Given the description of an element on the screen output the (x, y) to click on. 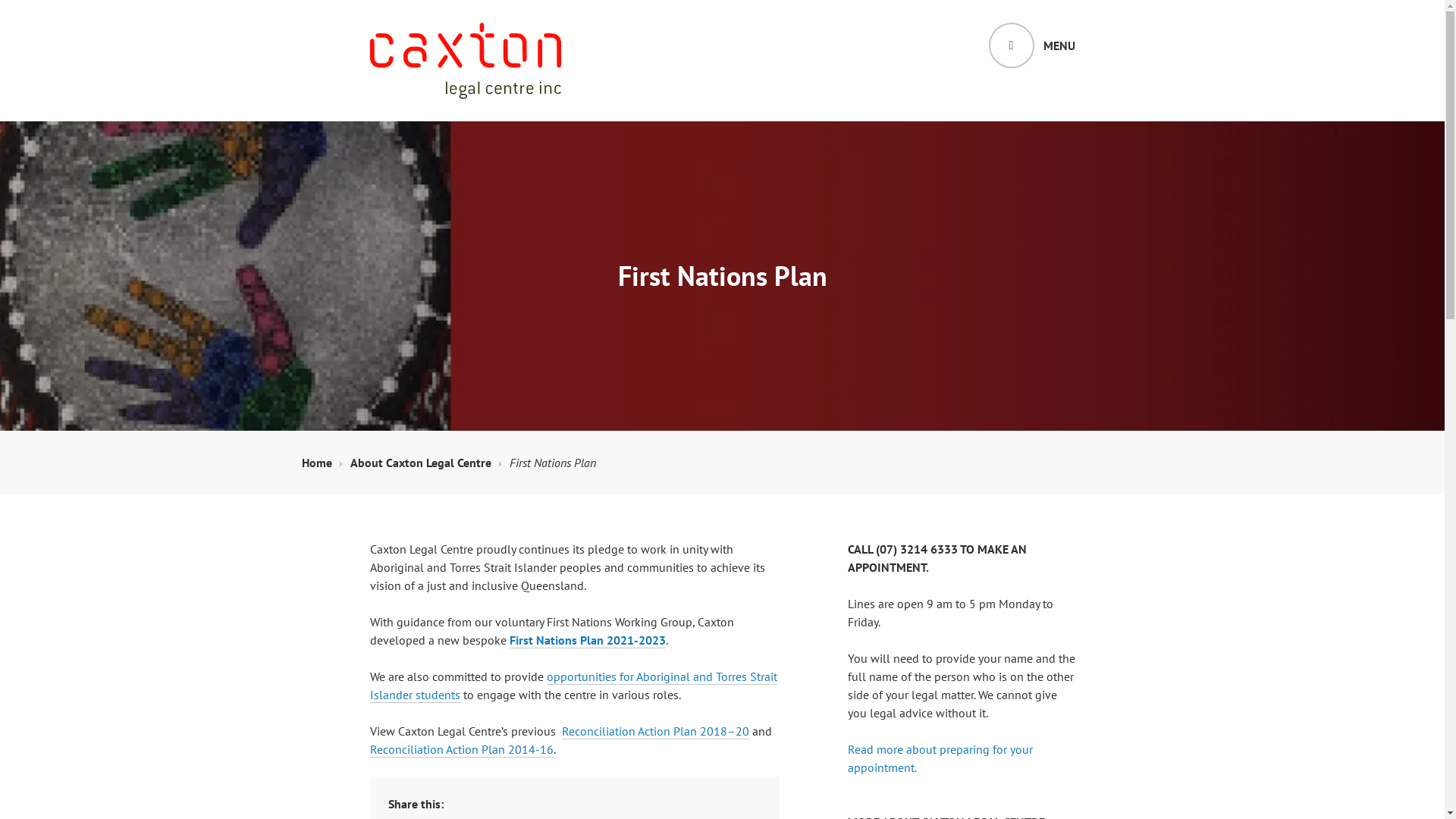
Reconciliation Action Plan 2014-16 Element type: text (461, 749)
CAXTON LEGAL CENTRE Element type: text (509, 124)
MENU Element type: text (1031, 45)
Skip to content Element type: text (0, 0)
Read more about preparing for your appointment. Element type: text (939, 758)
Home Element type: text (321, 462)
About Caxton Legal Centre Element type: text (426, 462)
First Nations Plan 2021-2023 Element type: text (587, 640)
